Given the description of an element on the screen output the (x, y) to click on. 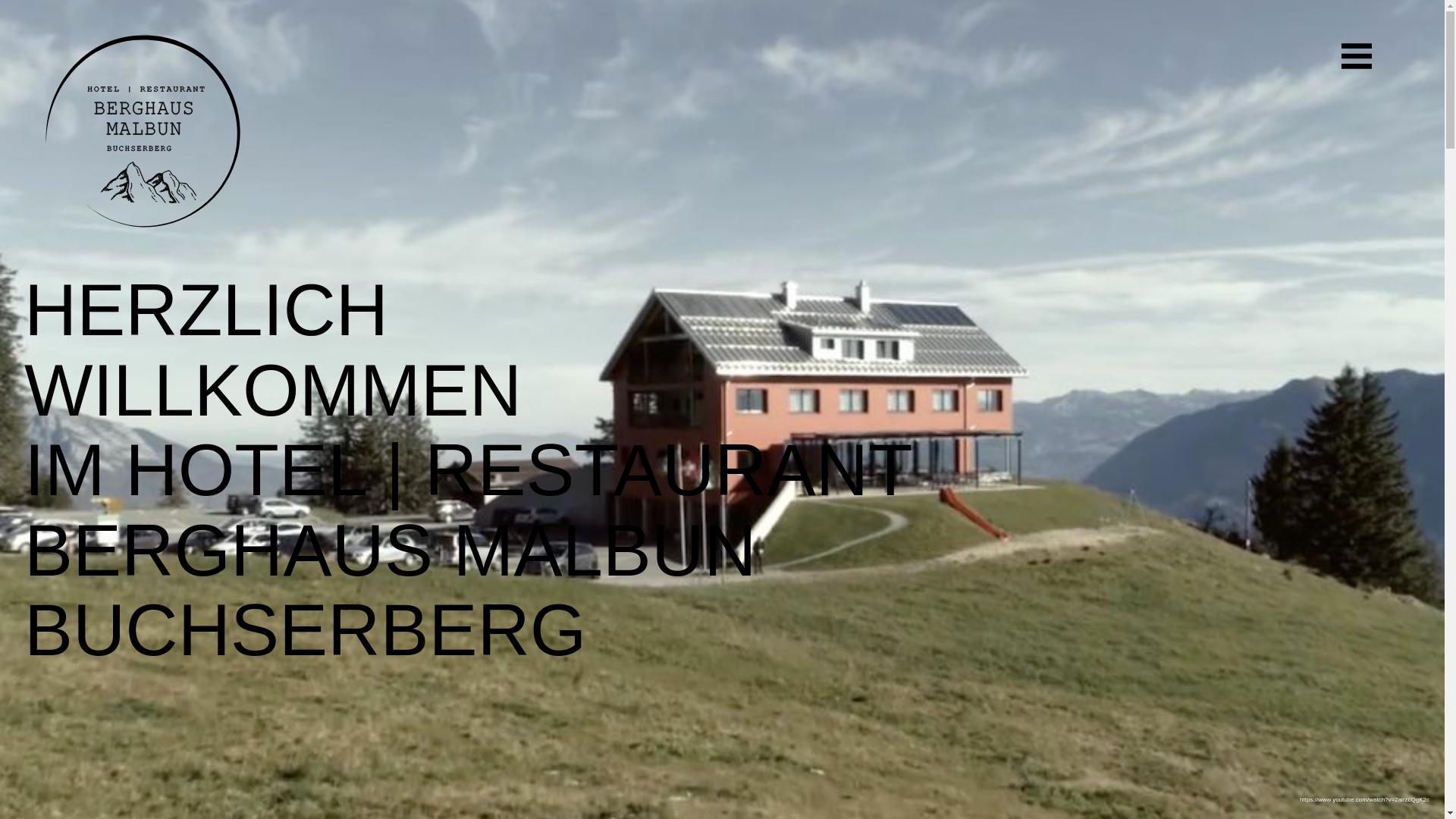
BERGHAUS MALBUN
BUCHSERBERG Element type: text (390, 590)
IM HOTEL | RESTAURANT Element type: text (468, 469)
https://www.youtube.com/watch?v=2alrzcQgK2c Element type: text (1364, 799)
HERZLICH
WILLKOMMEN Element type: text (272, 349)
